Given the description of an element on the screen output the (x, y) to click on. 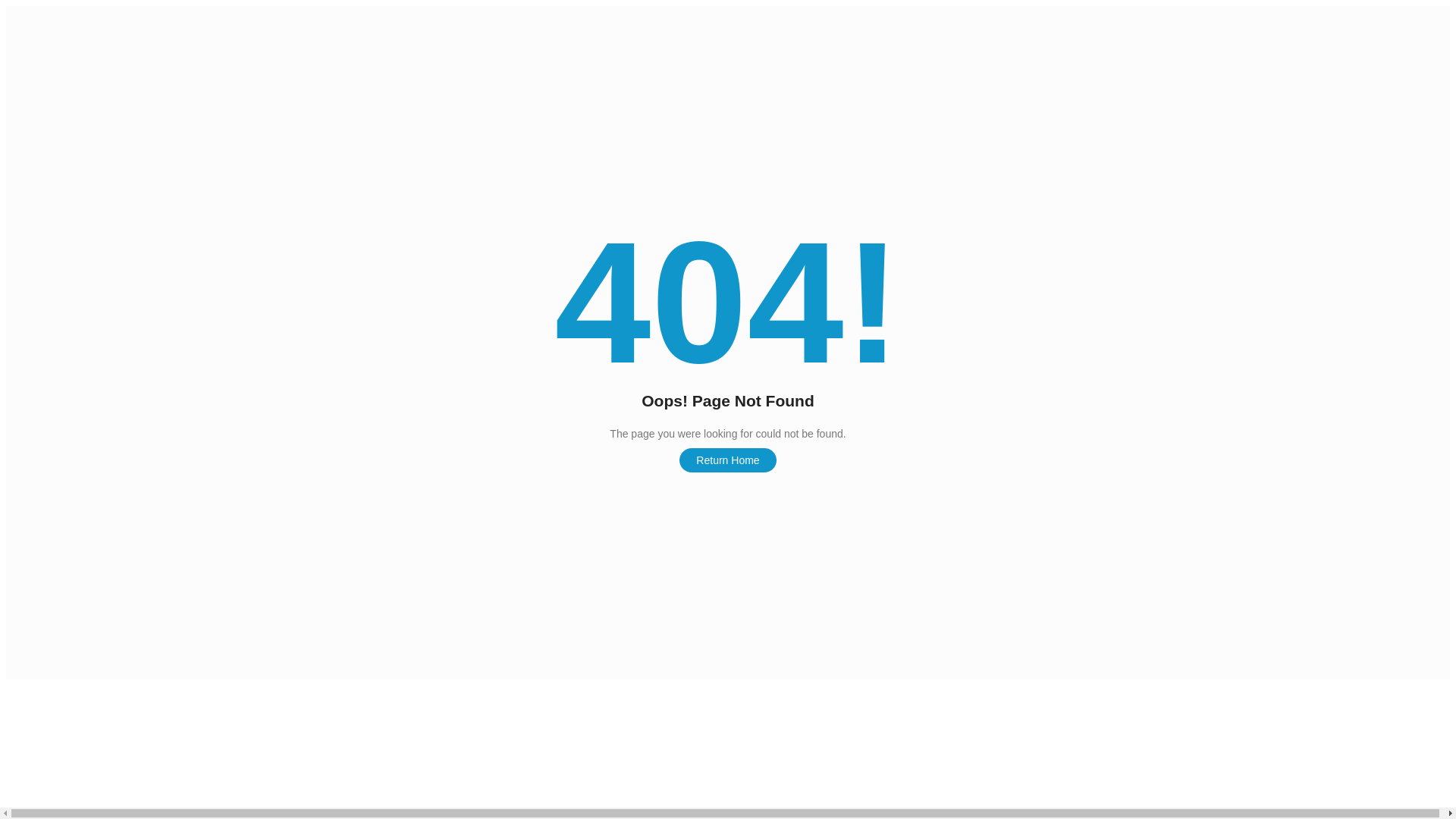
Return Home Element type: text (727, 460)
